Given the description of an element on the screen output the (x, y) to click on. 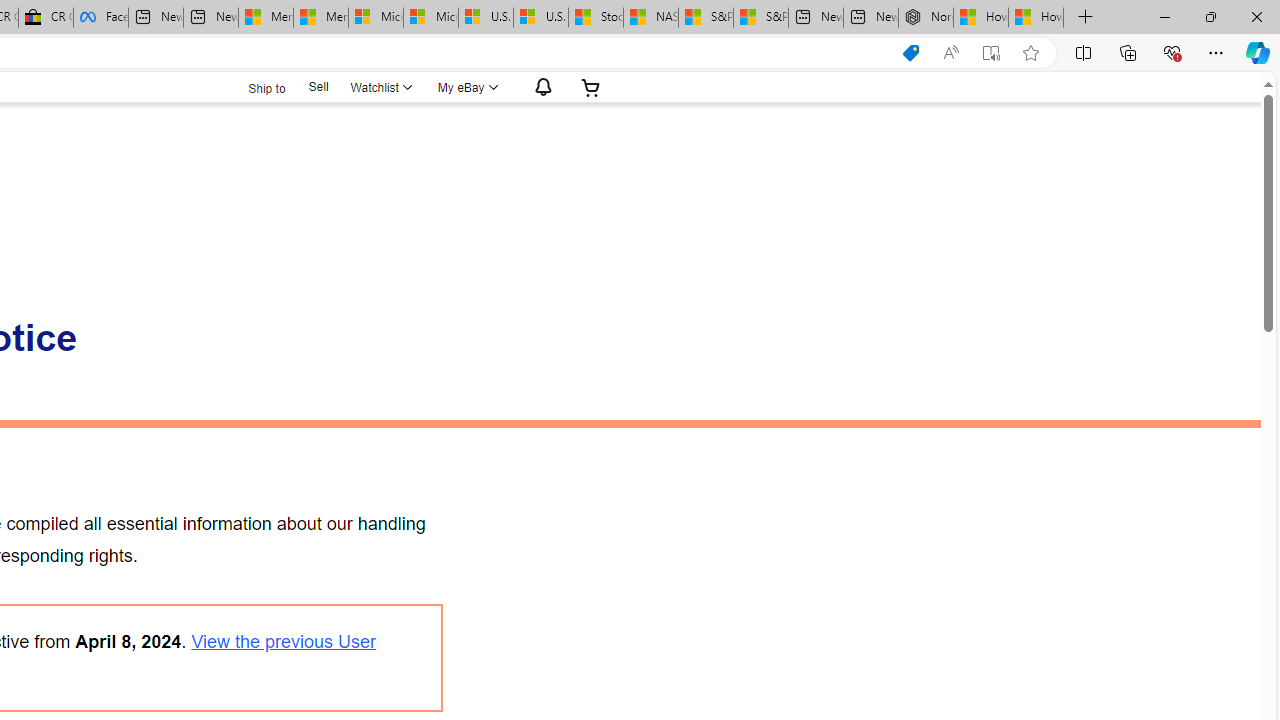
Ship to (253, 85)
S&P 500, Nasdaq end lower, weighed by Nvidia dip | Watch (760, 17)
AutomationID: gh-eb-Alerts (540, 87)
Ship to (253, 88)
Your shopping cart (591, 87)
Watchlist (380, 87)
